Given the description of an element on the screen output the (x, y) to click on. 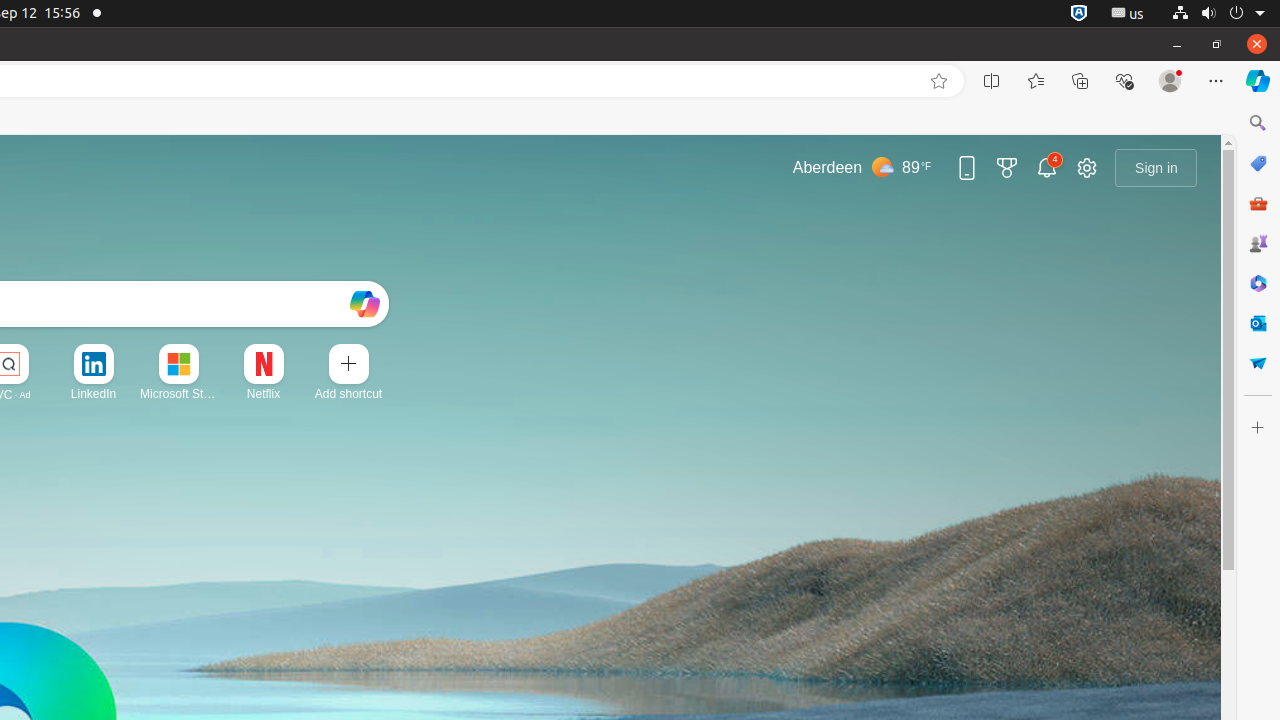
Split screen Element type: push-button (992, 81)
Collections Element type: push-button (1080, 81)
Tools Element type: push-button (1258, 202)
Notifications Element type: push-button (1047, 168)
